Given the description of an element on the screen output the (x, y) to click on. 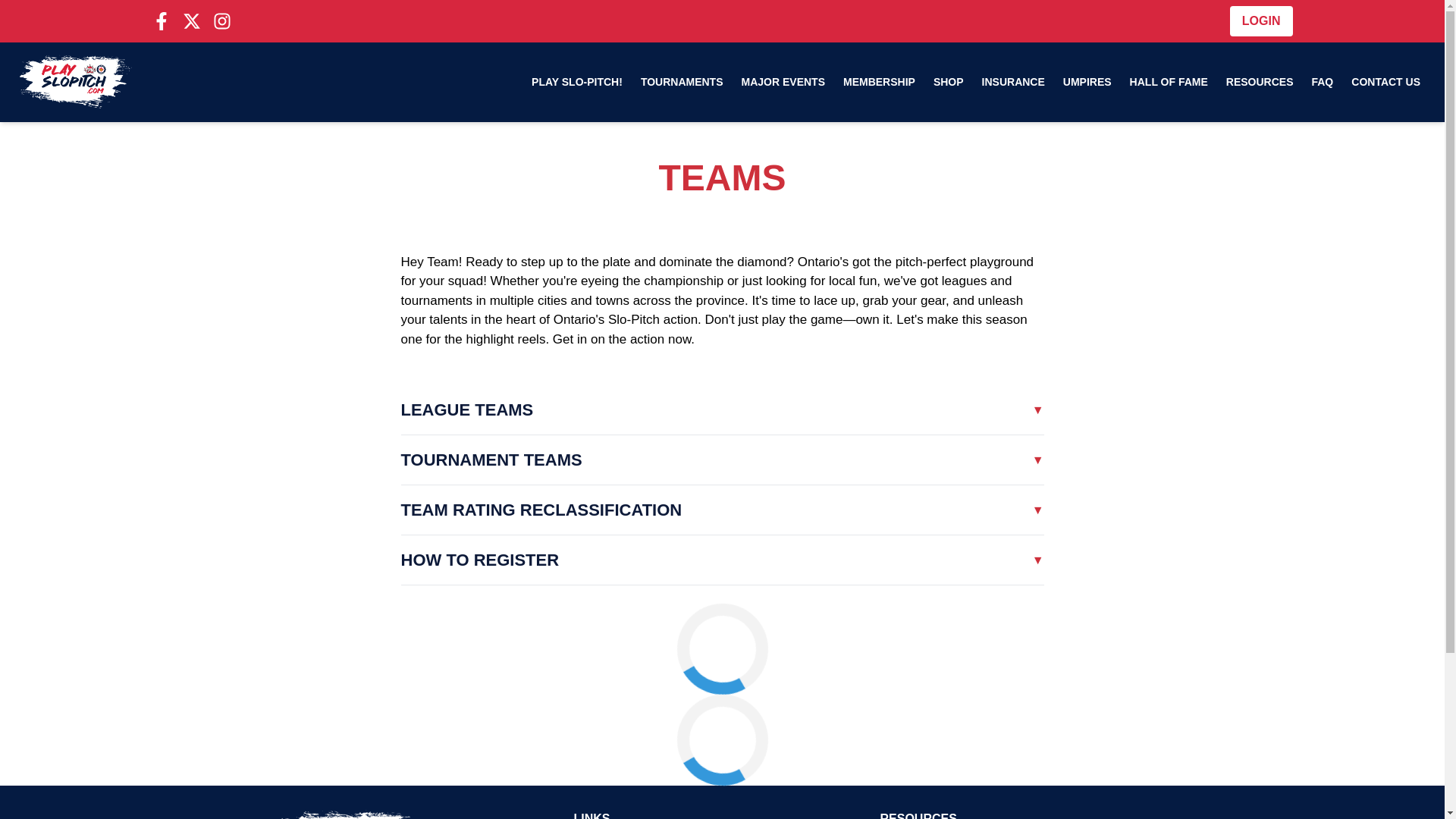
HALL OF FAME (1169, 81)
PLAY SLO-PITCH! (576, 81)
MEMBERSHIP (879, 81)
TOURNAMENTS (681, 81)
LOGIN (1261, 20)
UMPIRES (1087, 81)
INSURANCE (1013, 81)
SHOP (948, 81)
MAJOR EVENTS (783, 81)
RESOURCES (1260, 81)
